Given the description of an element on the screen output the (x, y) to click on. 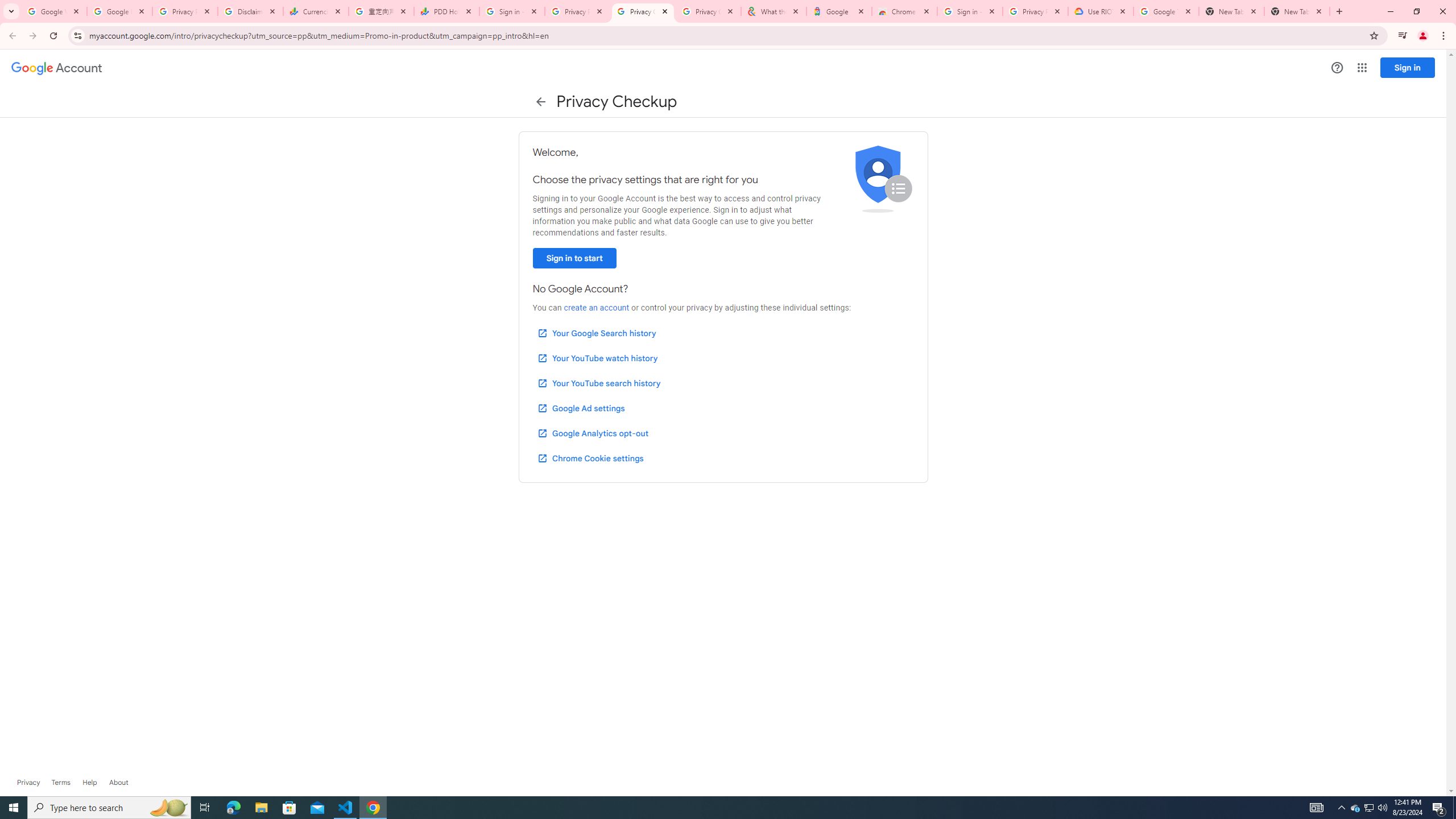
Privacy Checkup (643, 11)
Sign in to start (573, 258)
PDD Holdings Inc - ADR (PDD) Price & News - Google Finance (446, 11)
